Given the description of an element on the screen output the (x, y) to click on. 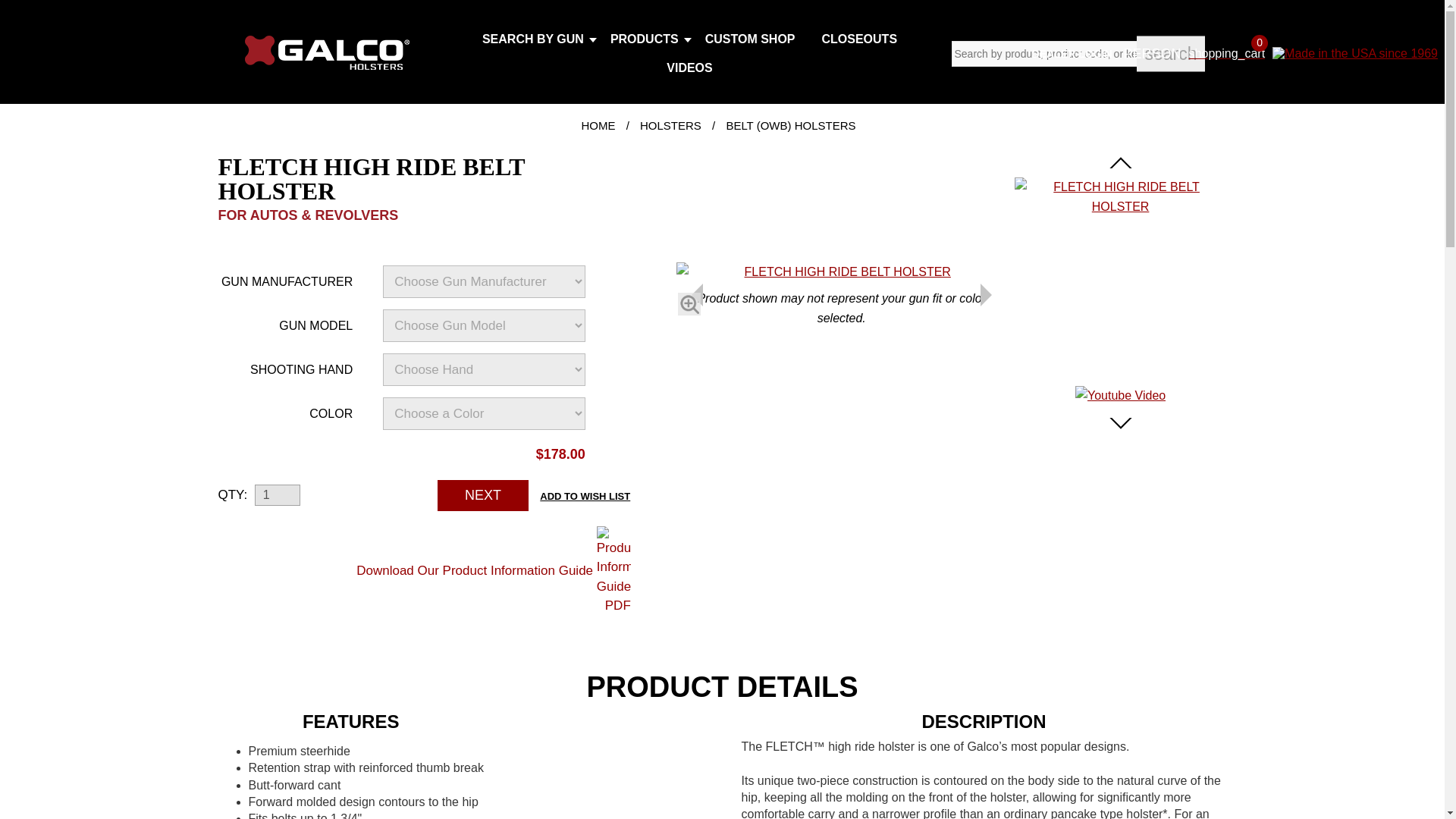
search (1170, 54)
PERSON (1152, 53)
VIDEOS (691, 68)
SEARCH BY GUN (534, 39)
PRODUCTS (646, 39)
FLETCH HIGH RIDE BELT HOLSTER (689, 303)
FLETCH HIGH RIDE BELT HOLSTER (842, 271)
1 (276, 495)
FLETCH HIGH RIDE BELT HOLSTER (1120, 205)
CLOSEOUTS (860, 39)
DEALER LOGIN (1072, 53)
search (1170, 54)
search (1170, 54)
CUSTOM SHOP (751, 39)
FLETCH HIGH RIDE BELT HOLSTER (1120, 196)
